Given the description of an element on the screen output the (x, y) to click on. 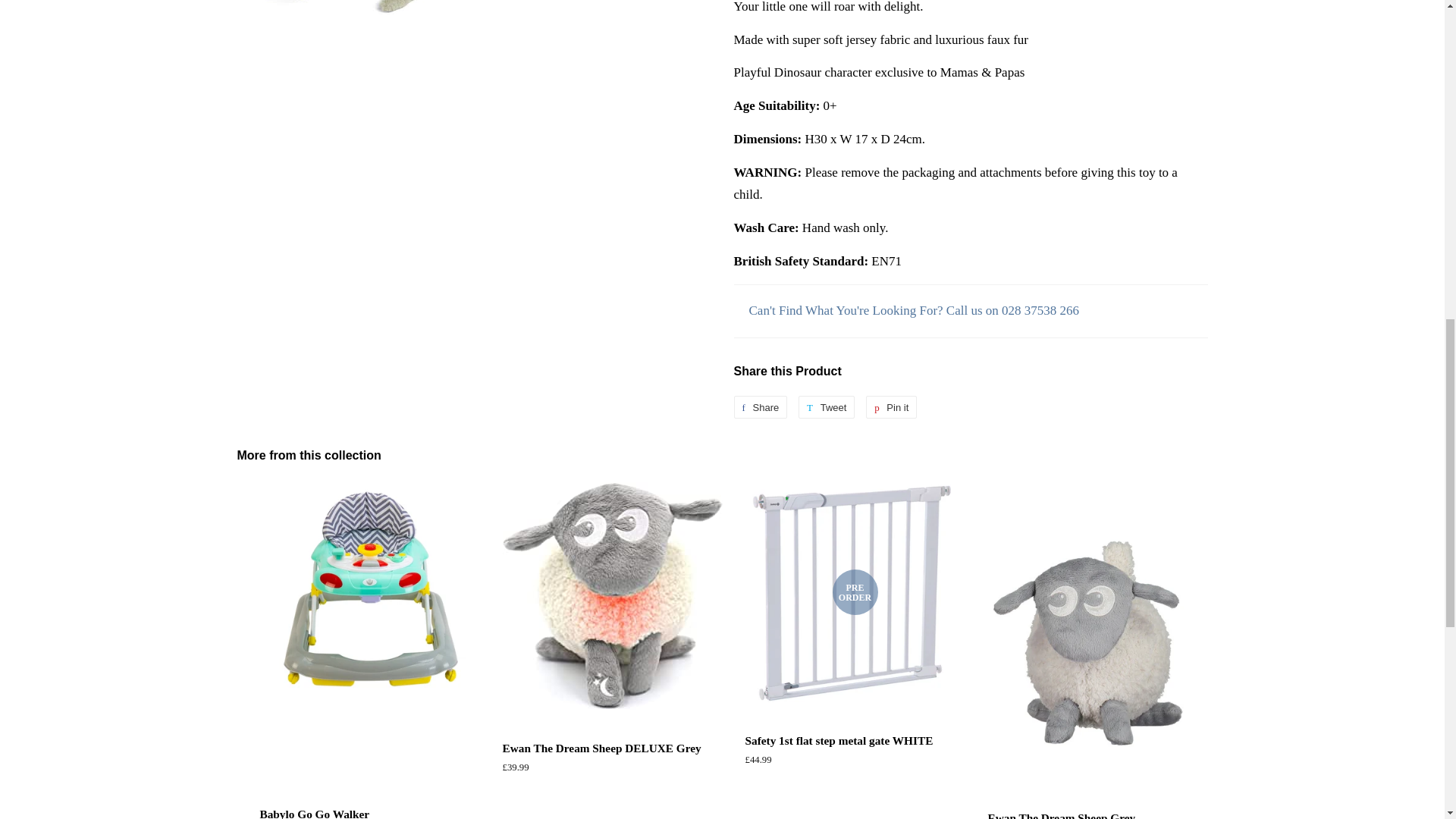
Tweet on Twitter (825, 406)
Share on Facebook (760, 406)
Pin on Pinterest (891, 406)
